Given the description of an element on the screen output the (x, y) to click on. 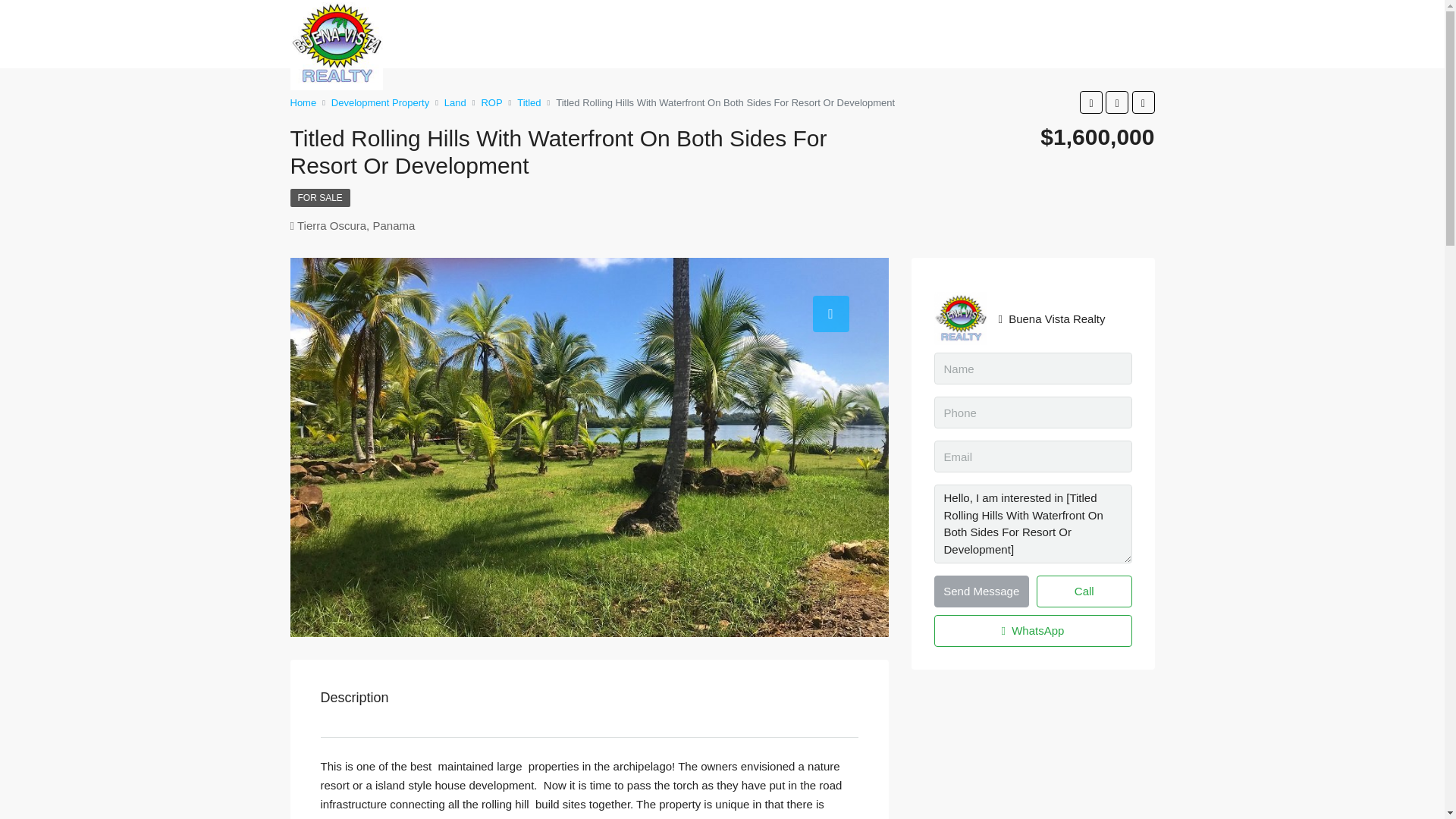
About Bocas (948, 46)
Properties (805, 46)
ROP (491, 101)
Home (302, 101)
Development Property (380, 101)
Titled (528, 101)
About Us (874, 46)
Contact (1112, 46)
FOR SALE (319, 198)
News (1058, 46)
Land (454, 101)
Home (744, 46)
FAQ (1011, 46)
